Given the description of an element on the screen output the (x, y) to click on. 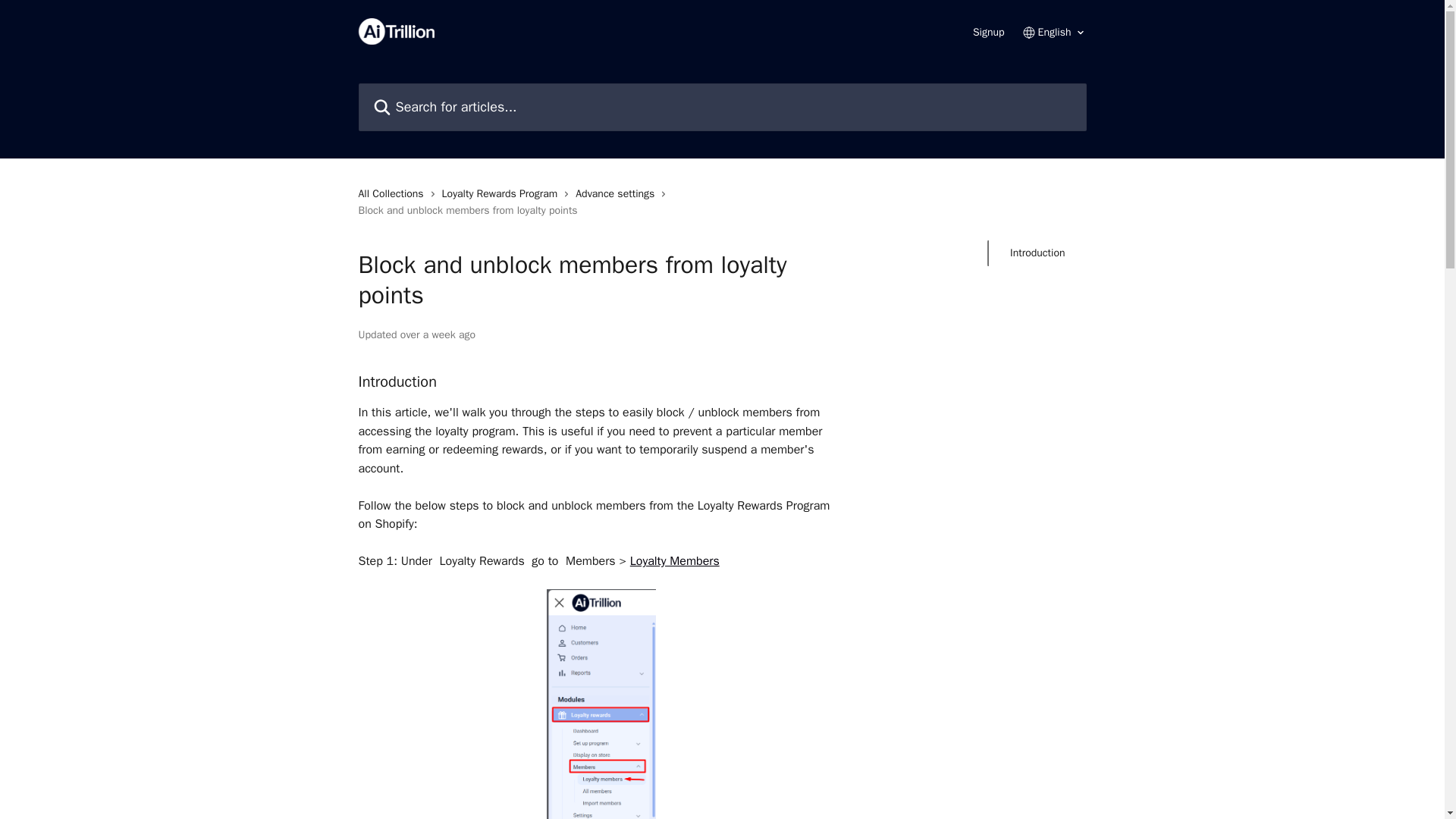
Loyalty Rewards Program (503, 193)
Introduction (1037, 252)
Signup (988, 32)
Loyalty Members (674, 560)
All Collections (393, 193)
Advance settings (618, 193)
